Given the description of an element on the screen output the (x, y) to click on. 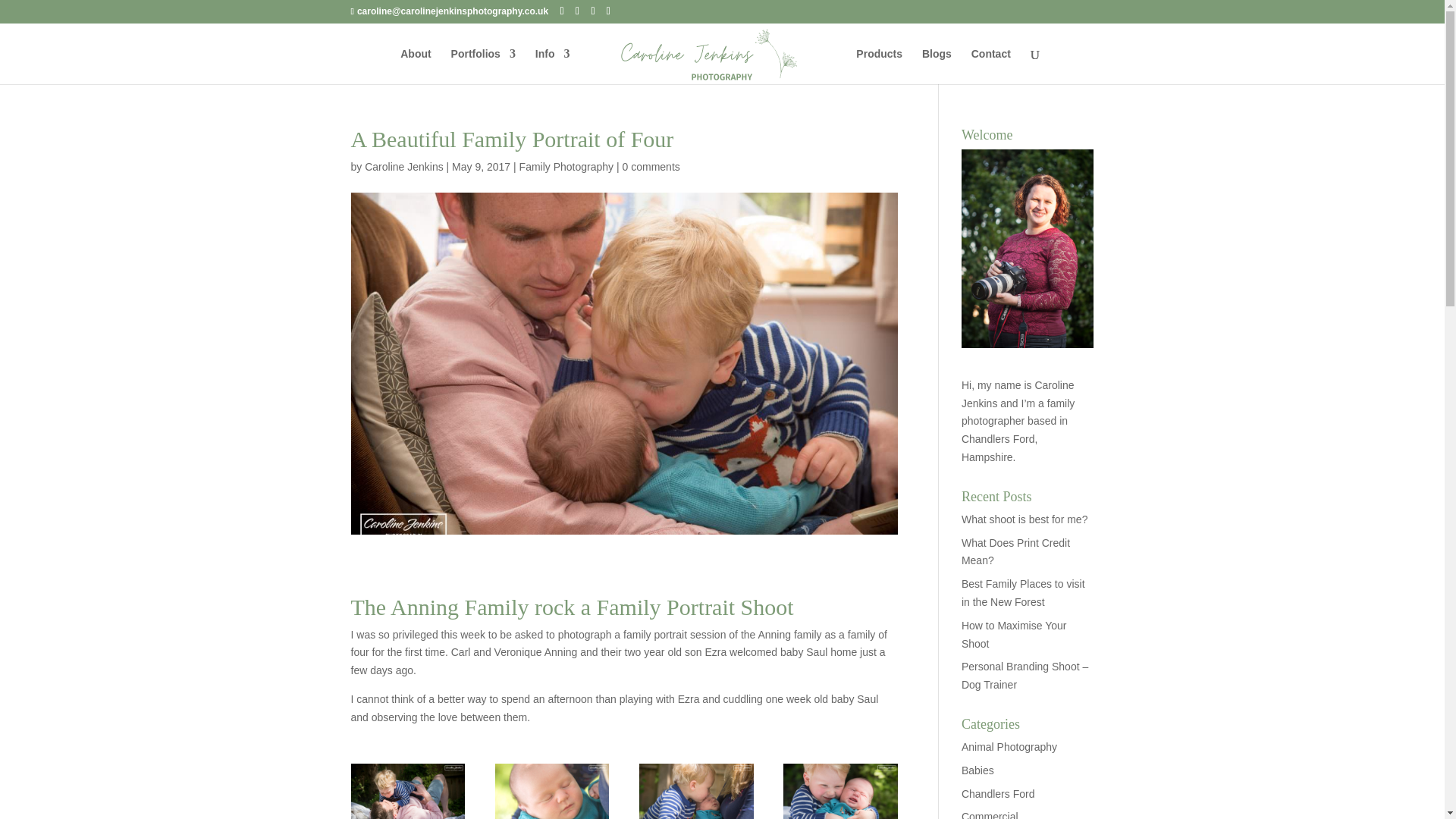
Products (879, 66)
Contact (990, 66)
Posts by Caroline Jenkins (404, 166)
Info (552, 66)
Portfolios (483, 66)
